Given the description of an element on the screen output the (x, y) to click on. 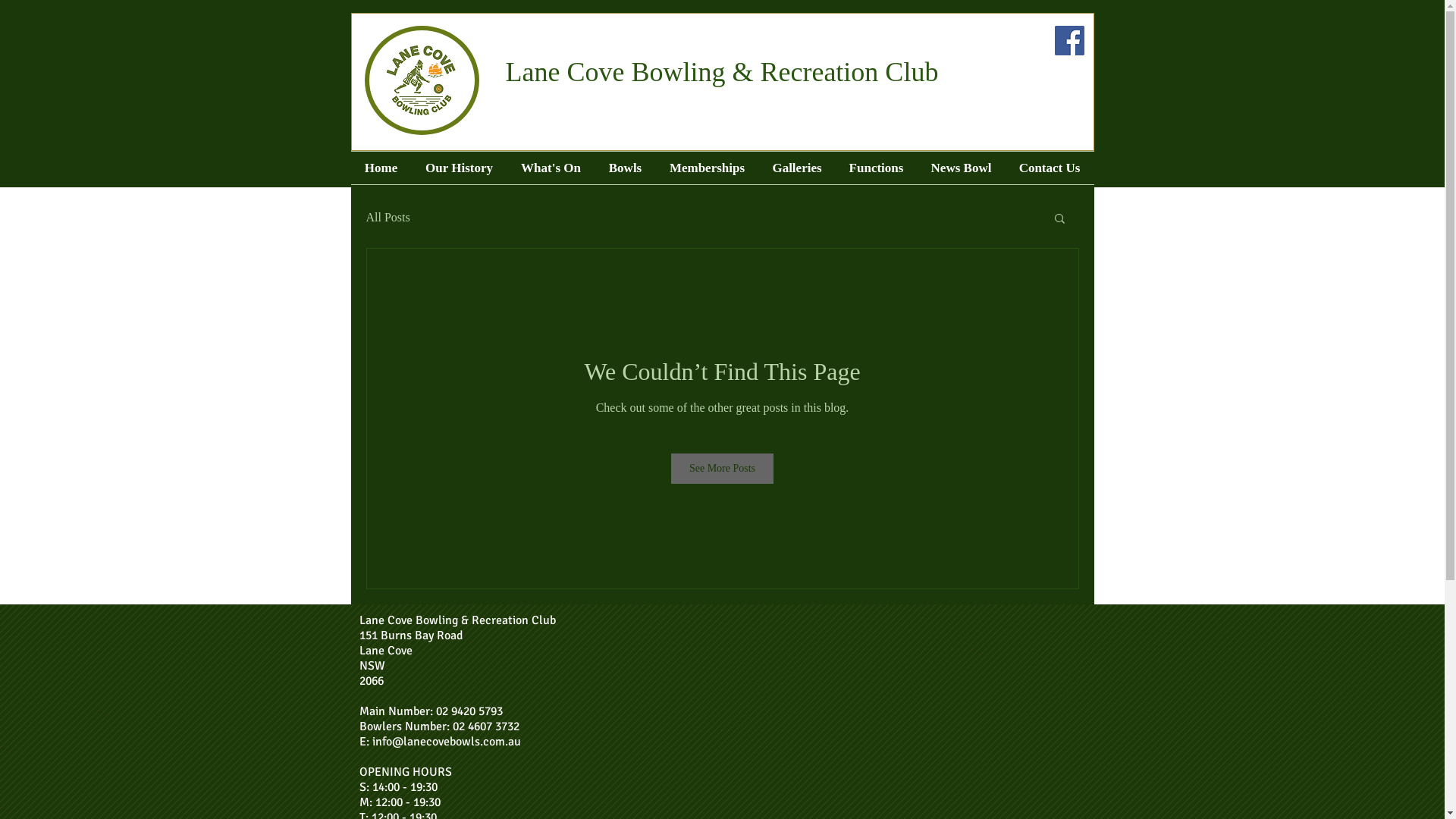
Our History Element type: text (458, 167)
See More Posts Element type: text (722, 468)
Bowls Element type: text (624, 167)
News Bowl Element type: text (961, 167)
What's On Element type: text (550, 167)
info@lanecovebowls.com.au Element type: text (445, 741)
Home Element type: text (380, 167)
Memberships Element type: text (706, 167)
Galleries Element type: text (796, 167)
Contact Us Element type: text (1049, 167)
Functions Element type: text (876, 167)
All Posts Element type: text (387, 217)
